Given the description of an element on the screen output the (x, y) to click on. 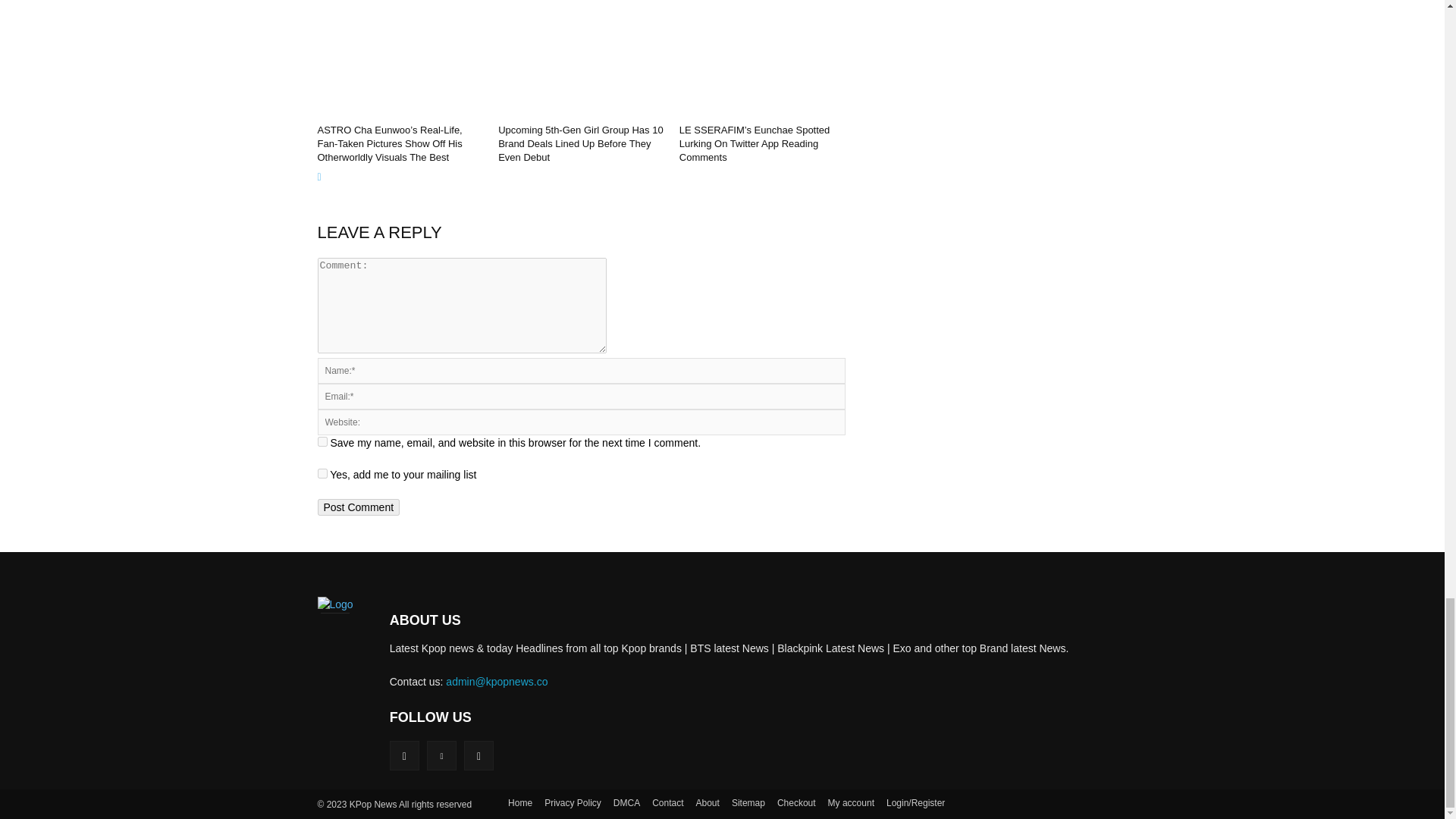
yes (321, 441)
1 (321, 473)
Post Comment (357, 506)
